Given the description of an element on the screen output the (x, y) to click on. 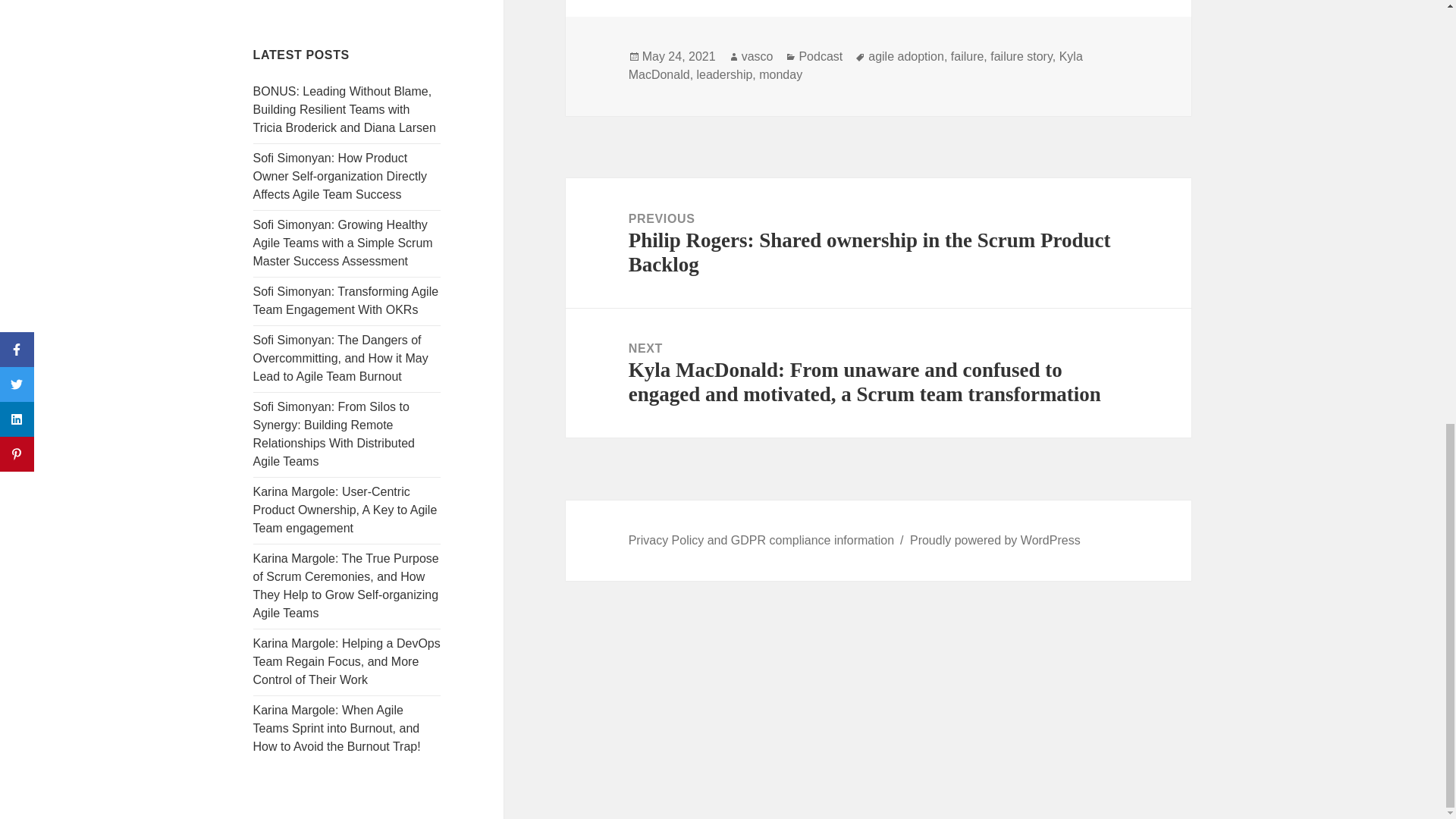
May 24, 2021 (679, 56)
failure (967, 56)
Sofi Simonyan: Transforming Agile Team Engagement With OKRs (346, 300)
agile adoption (905, 56)
leadership (724, 74)
Kyla MacDonald (855, 65)
